Given the description of an element on the screen output the (x, y) to click on. 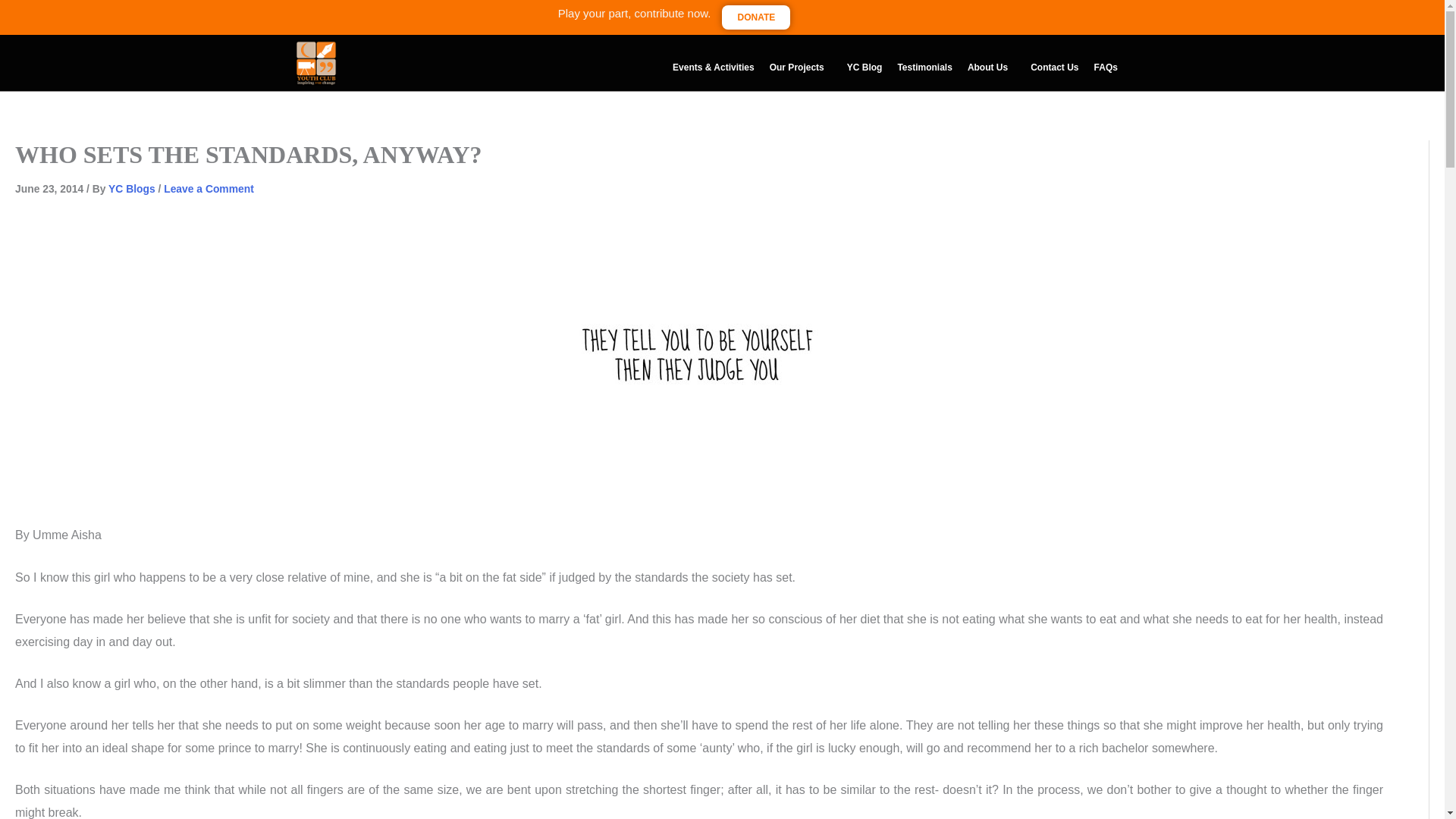
YC Blogs (132, 188)
FAQs (1105, 67)
YC Blog (864, 67)
Testimonials (924, 67)
DONATE (756, 16)
Leave a Comment (208, 188)
View all posts by YC Blogs (132, 188)
Contact Us (1054, 67)
Our Projects (800, 67)
About Us (991, 67)
